Given the description of an element on the screen output the (x, y) to click on. 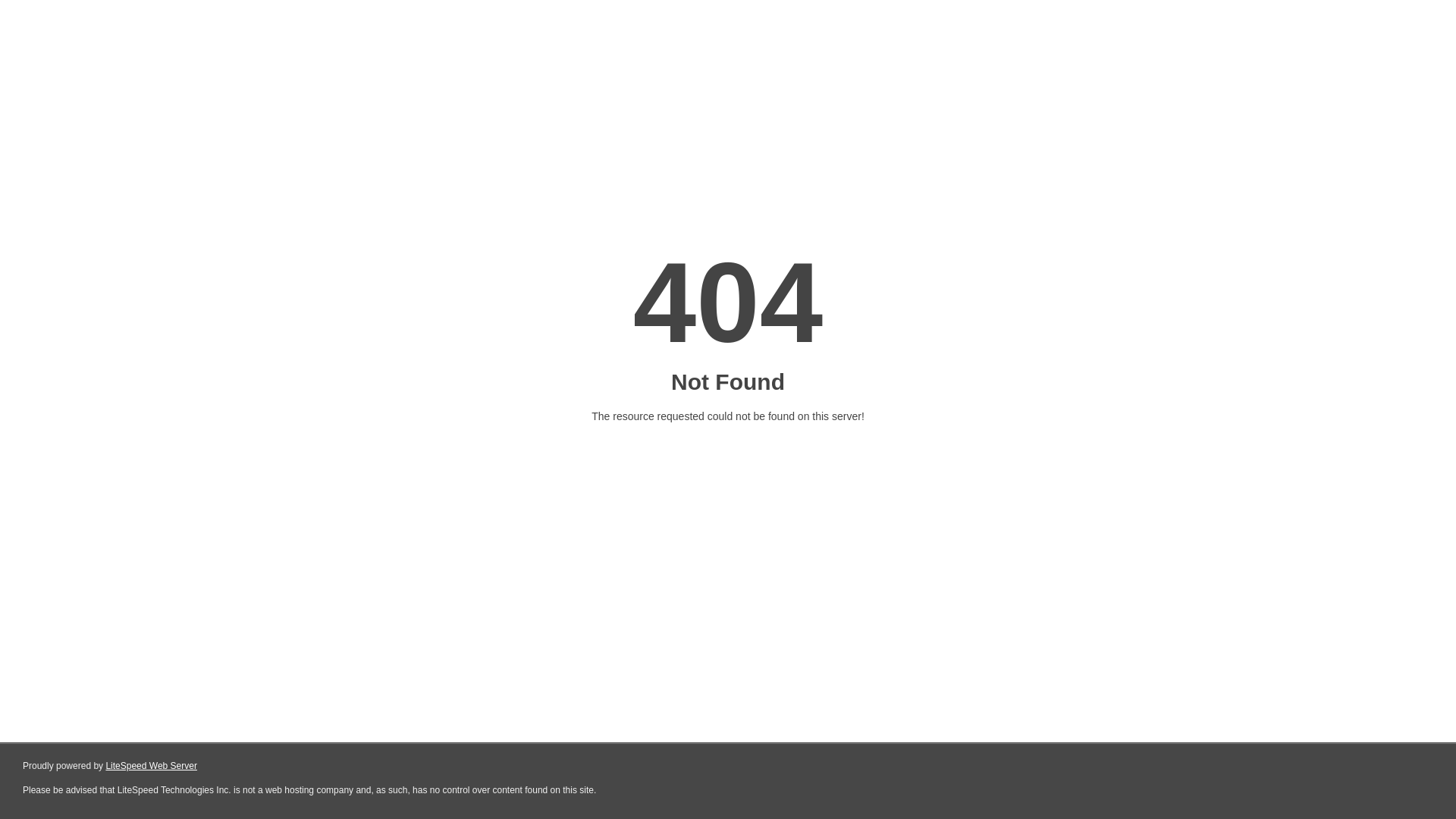
LiteSpeed Web Server Element type: text (151, 765)
